Given the description of an element on the screen output the (x, y) to click on. 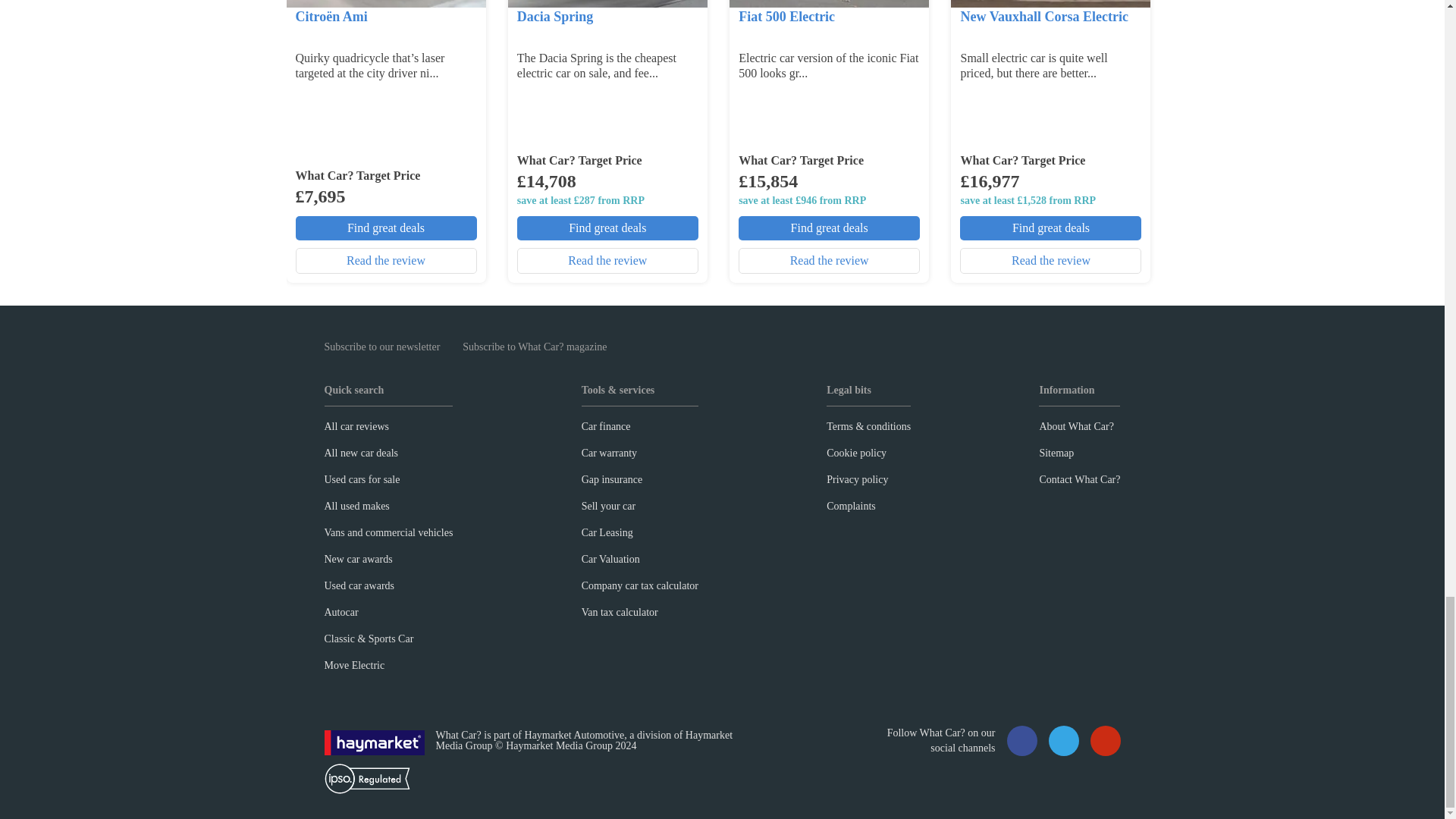
Haymarket (374, 742)
IPSO (367, 778)
